Given the description of an element on the screen output the (x, y) to click on. 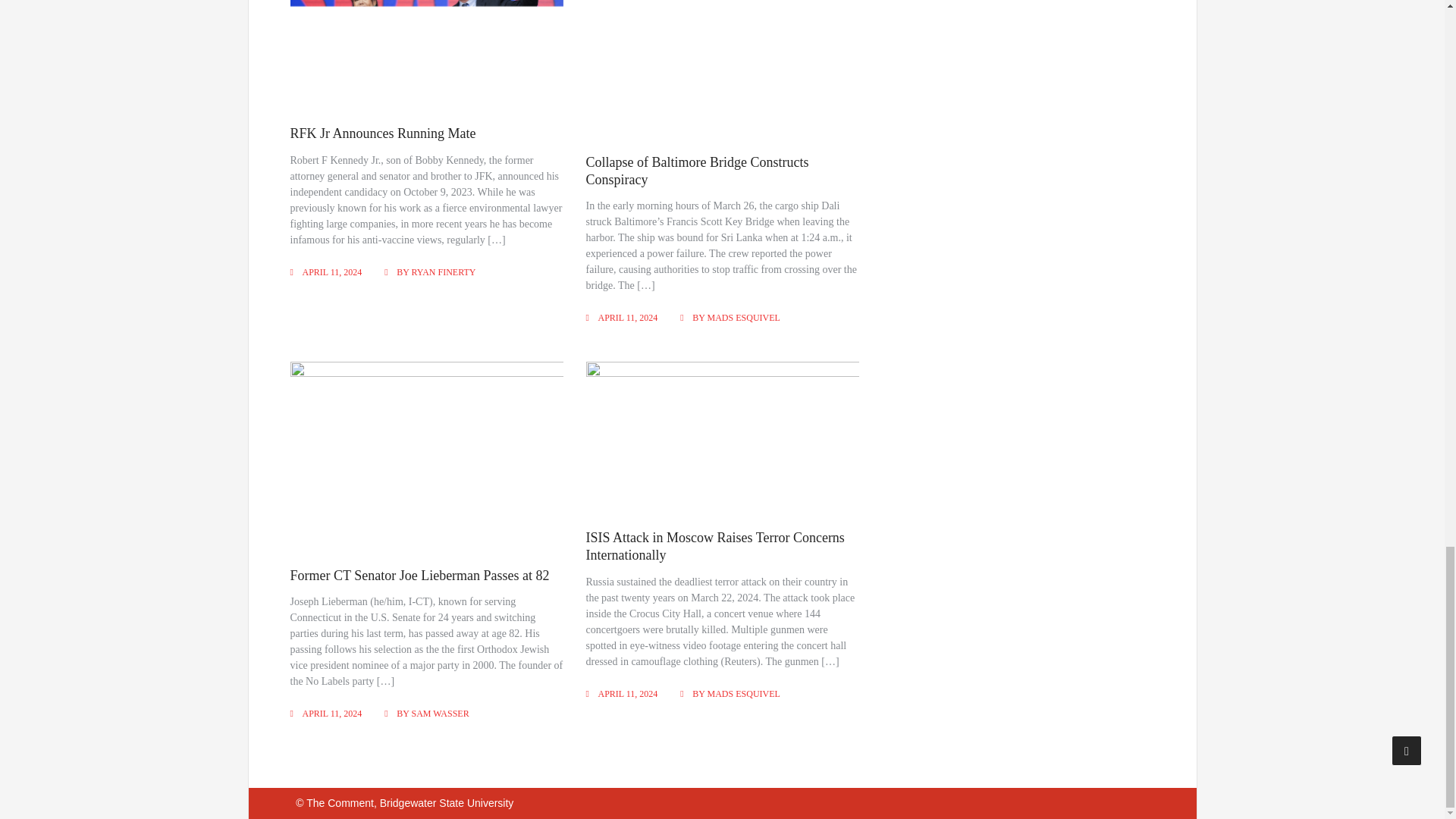
RYAN FINERTY (444, 271)
APRIL 11, 2024 (331, 271)
RFK Jr Announces Running Mate (382, 133)
Collapse of Baltimore Bridge Constructs Conspiracy (697, 170)
APRIL 11, 2024 (628, 317)
